Given the description of an element on the screen output the (x, y) to click on. 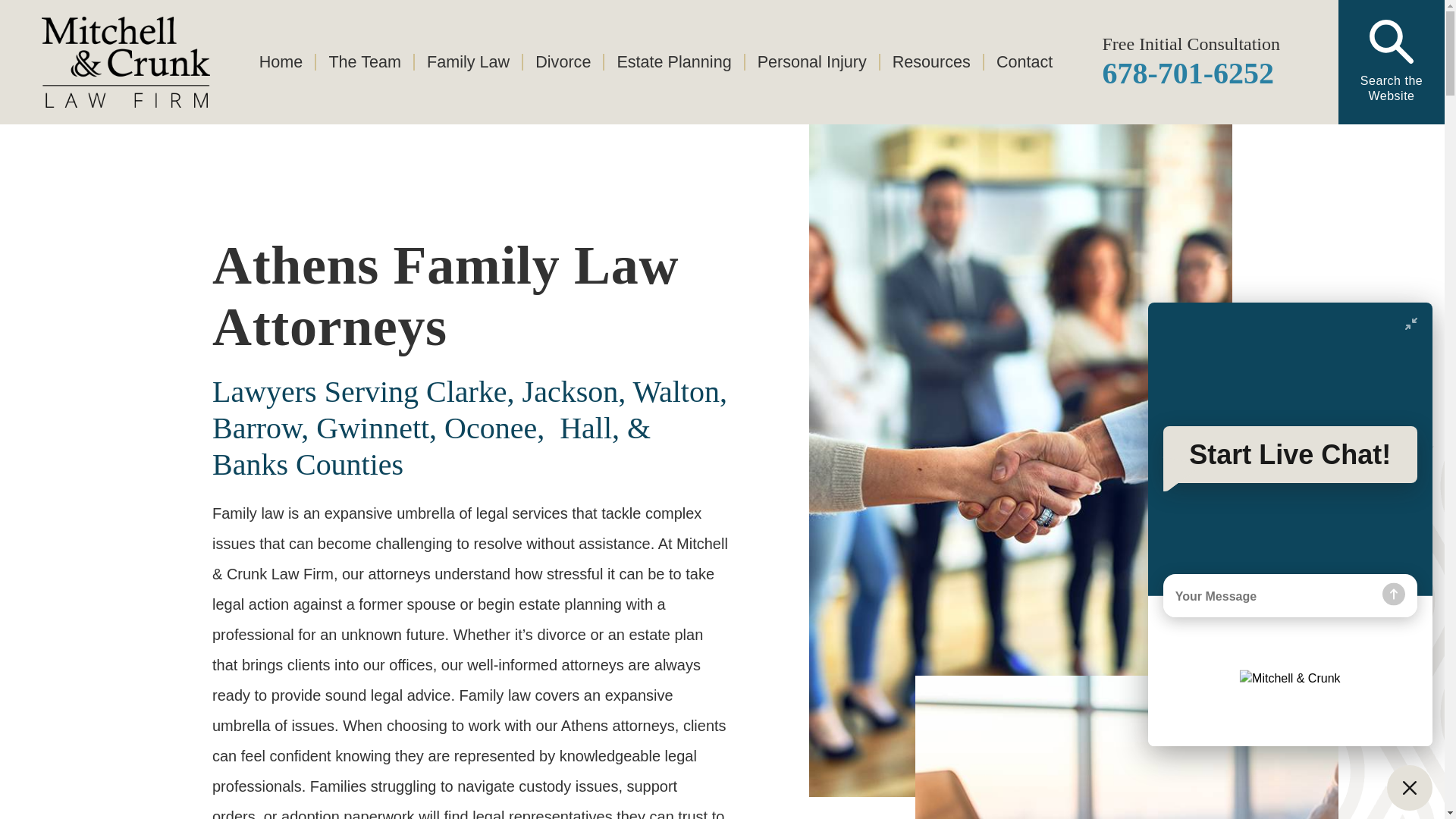
Personal Injury (811, 62)
Resources (930, 62)
Divorce (561, 62)
Estate Planning (672, 62)
Home (287, 62)
Family Law (467, 62)
Open the accessibility options menu (1412, 786)
The Team (363, 62)
